Given the description of an element on the screen output the (x, y) to click on. 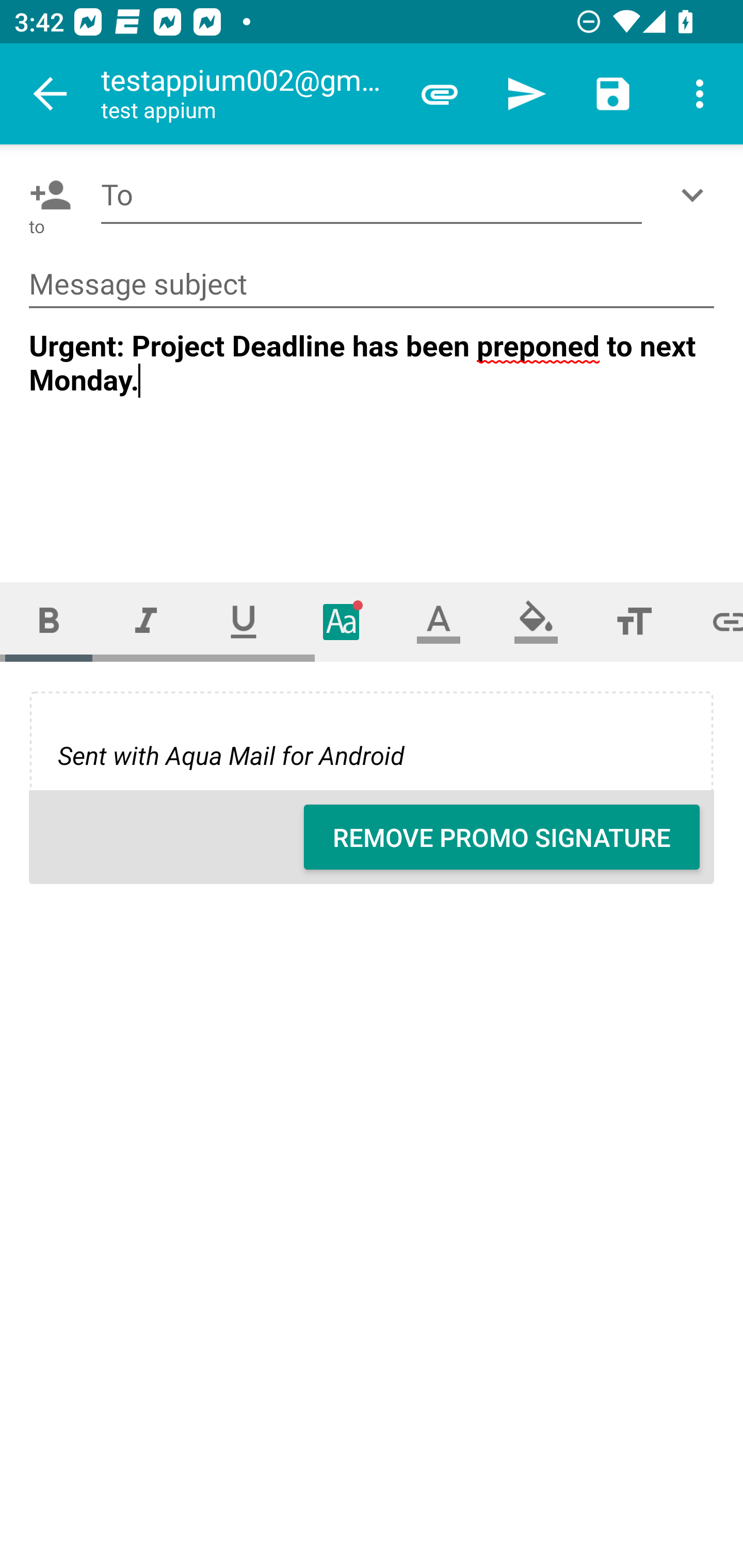
Navigate up (50, 93)
testappium002@gmail.com test appium (248, 93)
Attach (439, 93)
Send (525, 93)
Save (612, 93)
More options (699, 93)
Pick contact: To (46, 195)
Show/Add CC/BCC (696, 195)
To (371, 195)
Message subject (371, 284)
Bold (48, 621)
Italic (145, 621)
Underline (243, 621)
Typeface (font) (341, 621)
Text color (438, 621)
Fill color (536, 621)
Font size (633, 621)
Set link (712, 621)
REMOVE PROMO SIGNATURE (501, 837)
